Given the description of an element on the screen output the (x, y) to click on. 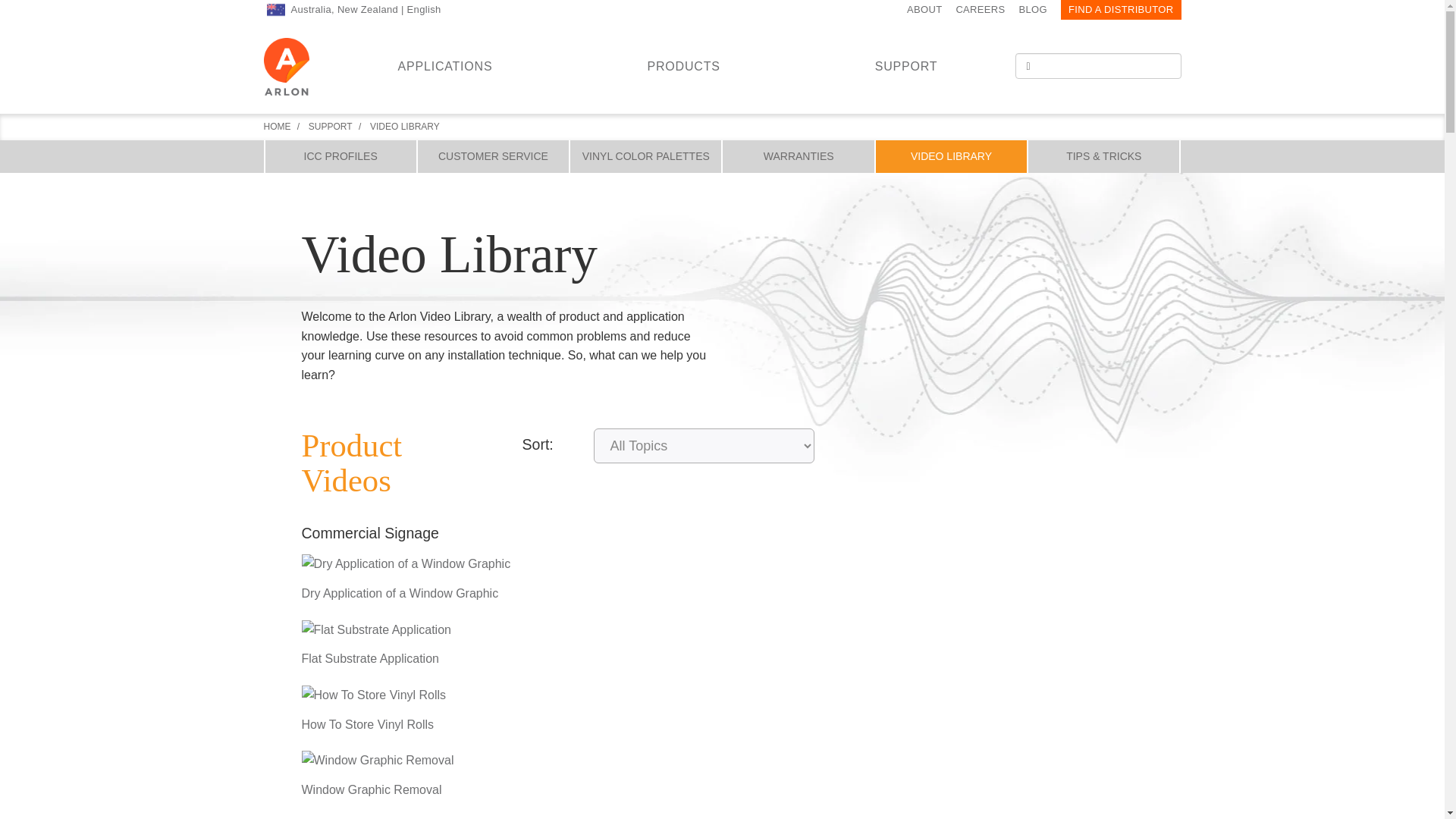
CAREERS (979, 9)
ABOUT (924, 9)
FIND A DISTRIBUTOR (1120, 9)
APPLICATIONS (444, 64)
BLOG (1032, 9)
